Given the description of an element on the screen output the (x, y) to click on. 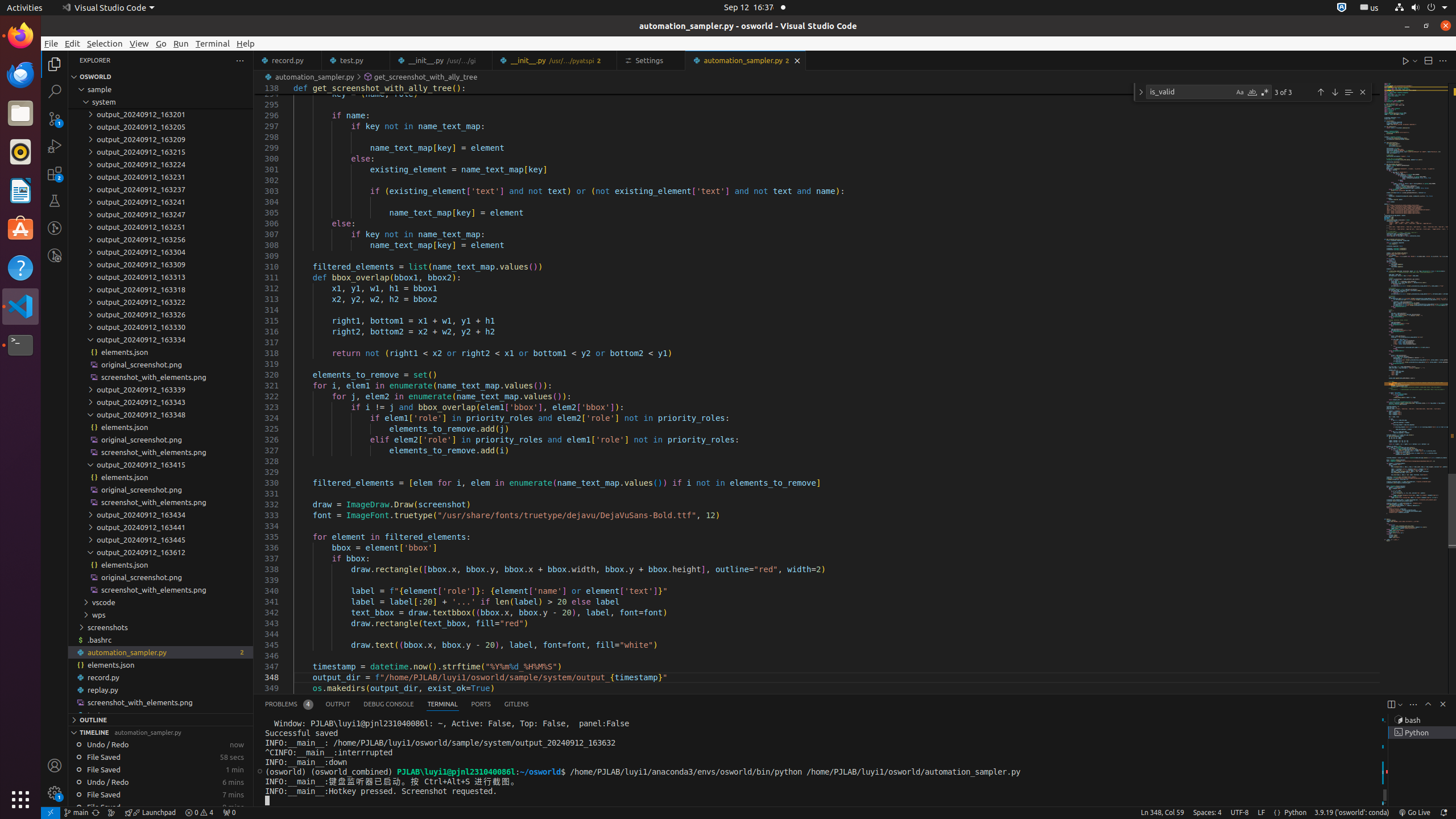
broadcast Go Live, Click to run live server Element type: push-button (1414, 812)
output_20240912_163209 Element type: tree-item (160, 139)
now: Undo / Redo Element type: tree-item (160, 744)
Split Editor Right (Ctrl+\) [Alt] Split Editor Down Element type: push-button (1427, 60)
